Given the description of an element on the screen output the (x, y) to click on. 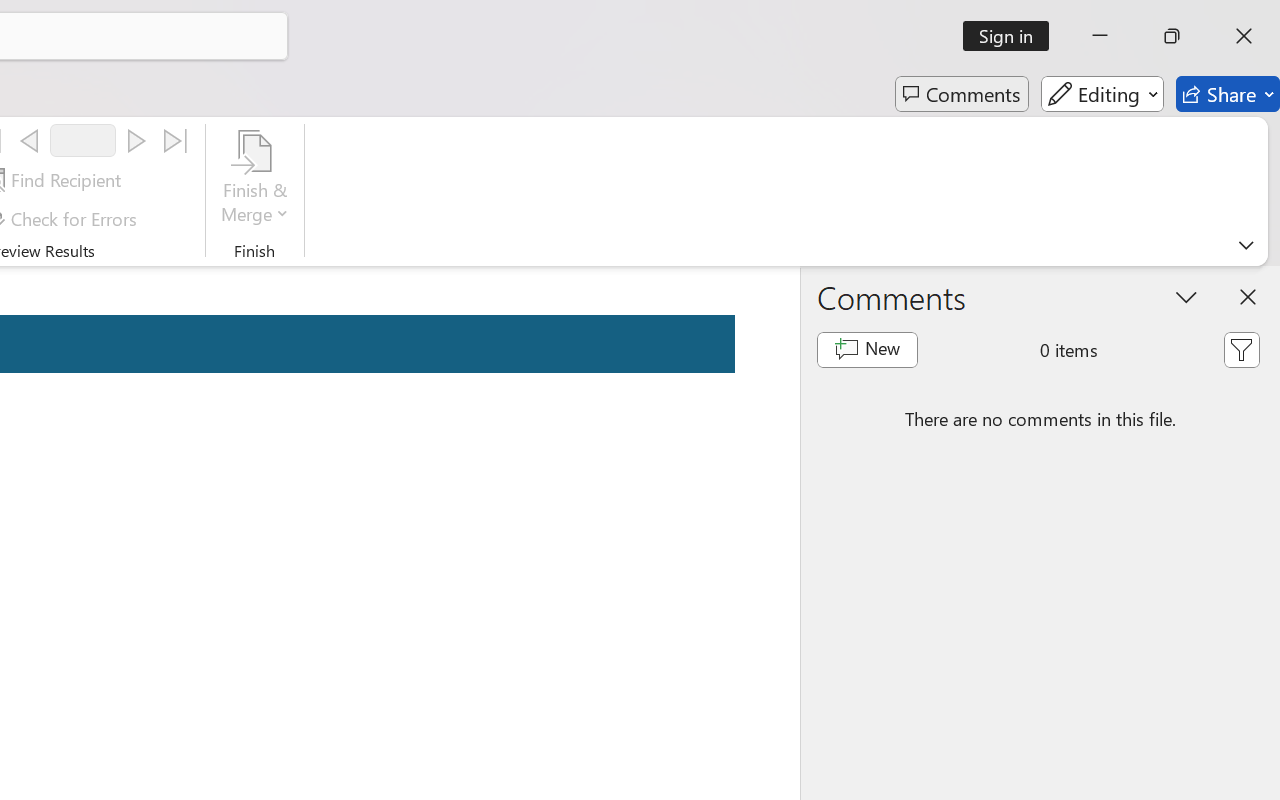
Previous (29, 141)
